Given the description of an element on the screen output the (x, y) to click on. 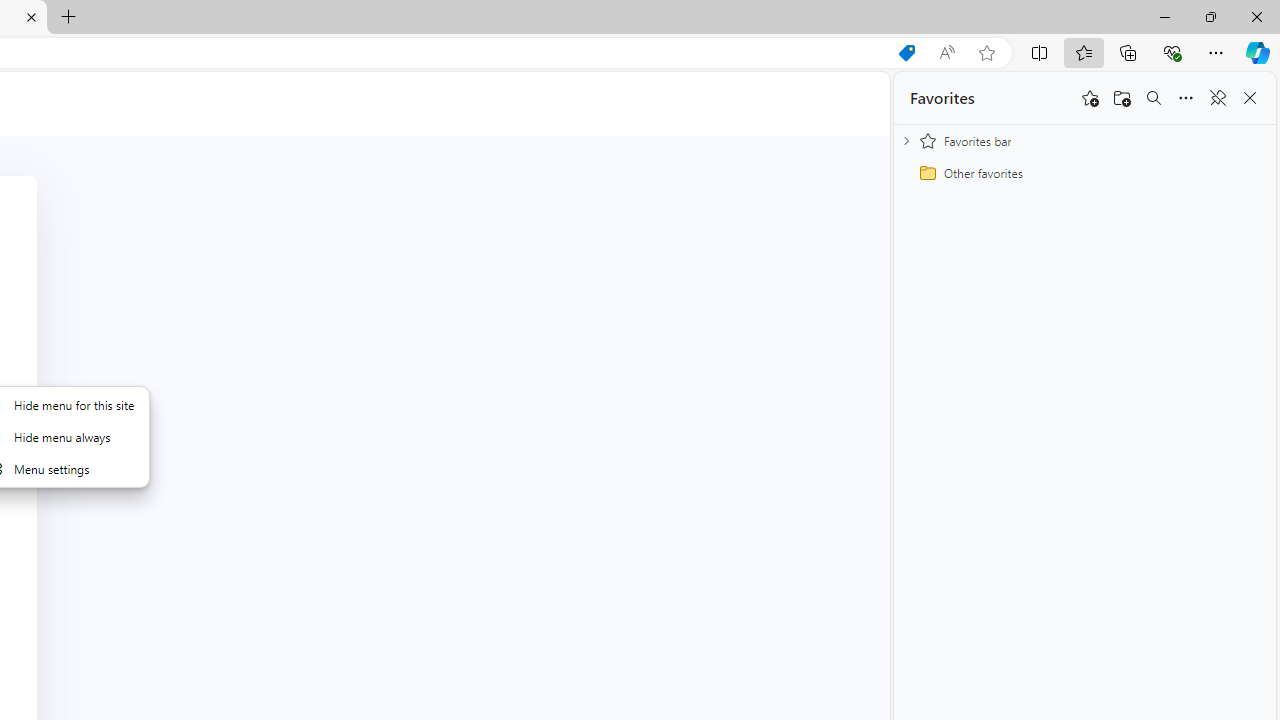
Add this page to favorites (1089, 98)
Unpin favorites (1217, 98)
Add folder (1122, 98)
Shopping in Microsoft Edge (906, 53)
Search favorites (1153, 98)
Close favorites (1250, 98)
